Given the description of an element on the screen output the (x, y) to click on. 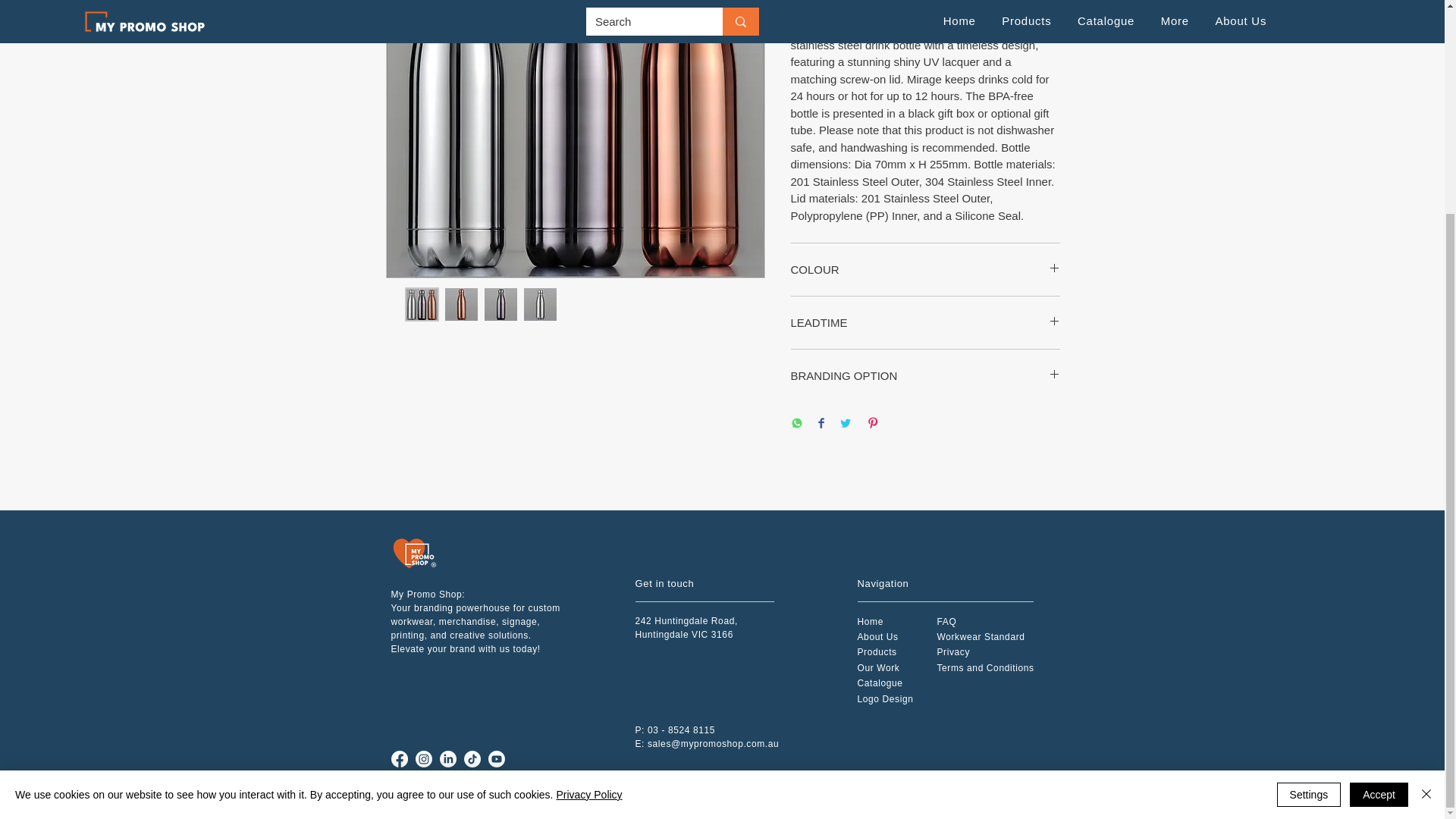
Terms and Conditions (985, 667)
COLOUR (924, 269)
Workwear Standard (981, 636)
Products (876, 652)
PRODUCT INFORMATION (924, 3)
BRANDING OPTION (924, 375)
Privacy (954, 652)
Our Work (878, 667)
LEADTIME (924, 322)
About Us (877, 636)
